Given the description of an element on the screen output the (x, y) to click on. 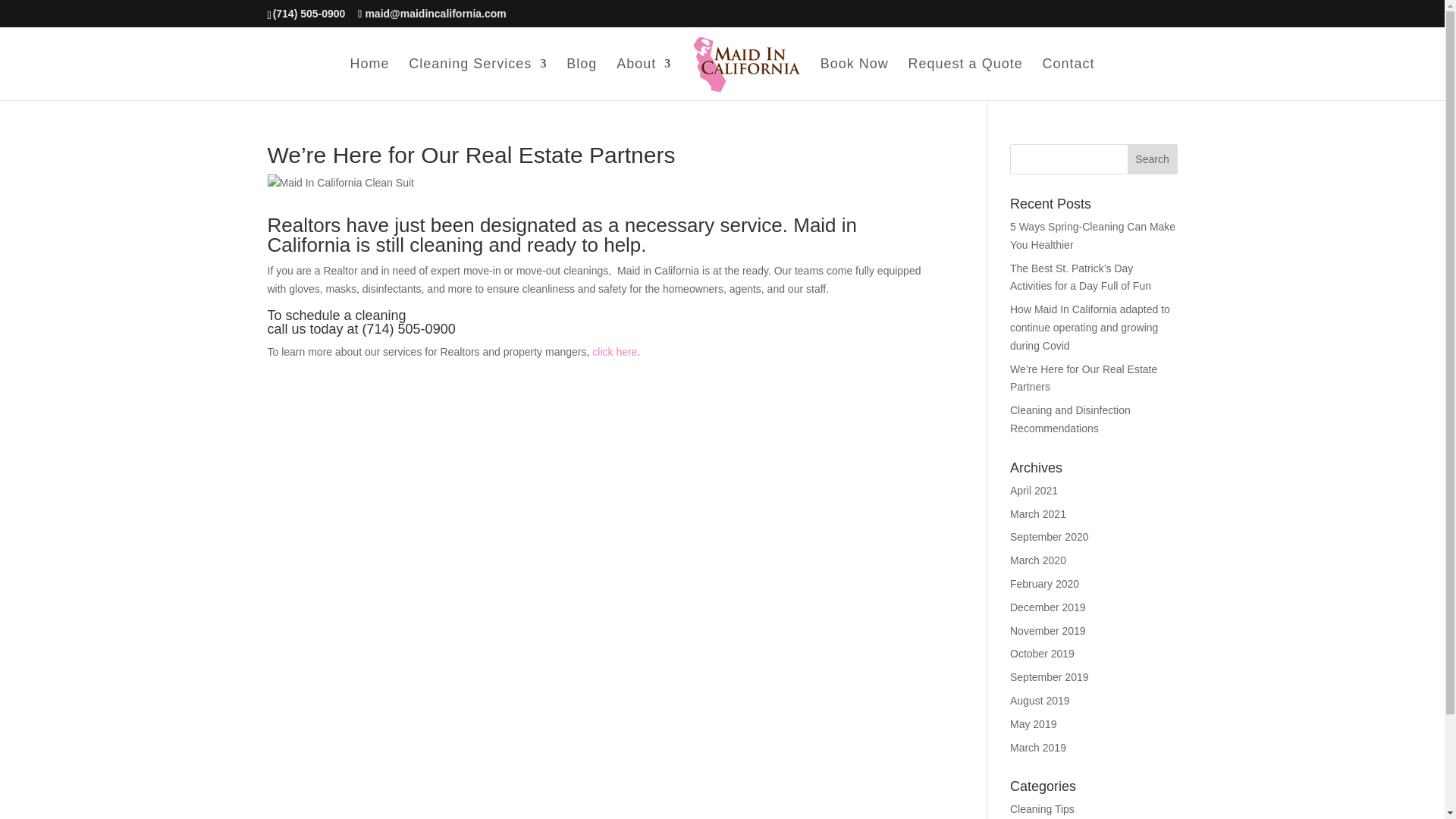
click here (614, 351)
Search (1151, 159)
September 2020 (1049, 536)
Home (368, 78)
Cleaning and Disinfection Recommendations (1070, 419)
April 2021 (1034, 490)
5 Ways Spring-Cleaning Can Make You Healthier (1092, 235)
About (643, 78)
Book Now (854, 78)
Request a Quote (965, 78)
Cleaning Services (478, 78)
Search (1151, 159)
Contact (1068, 78)
March 2021 (1037, 513)
